Given the description of an element on the screen output the (x, y) to click on. 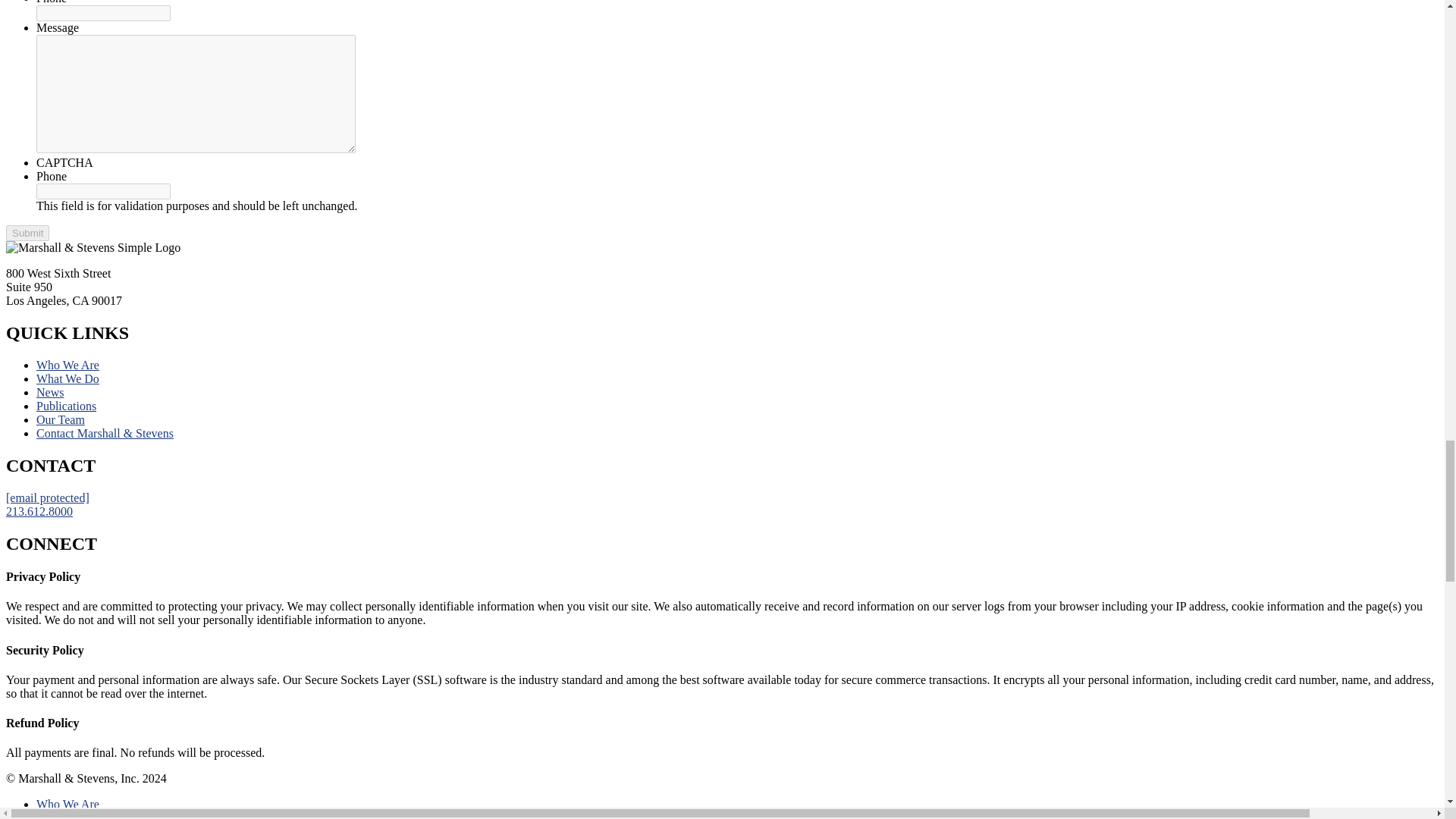
Submit (27, 232)
